Given the description of an element on the screen output the (x, y) to click on. 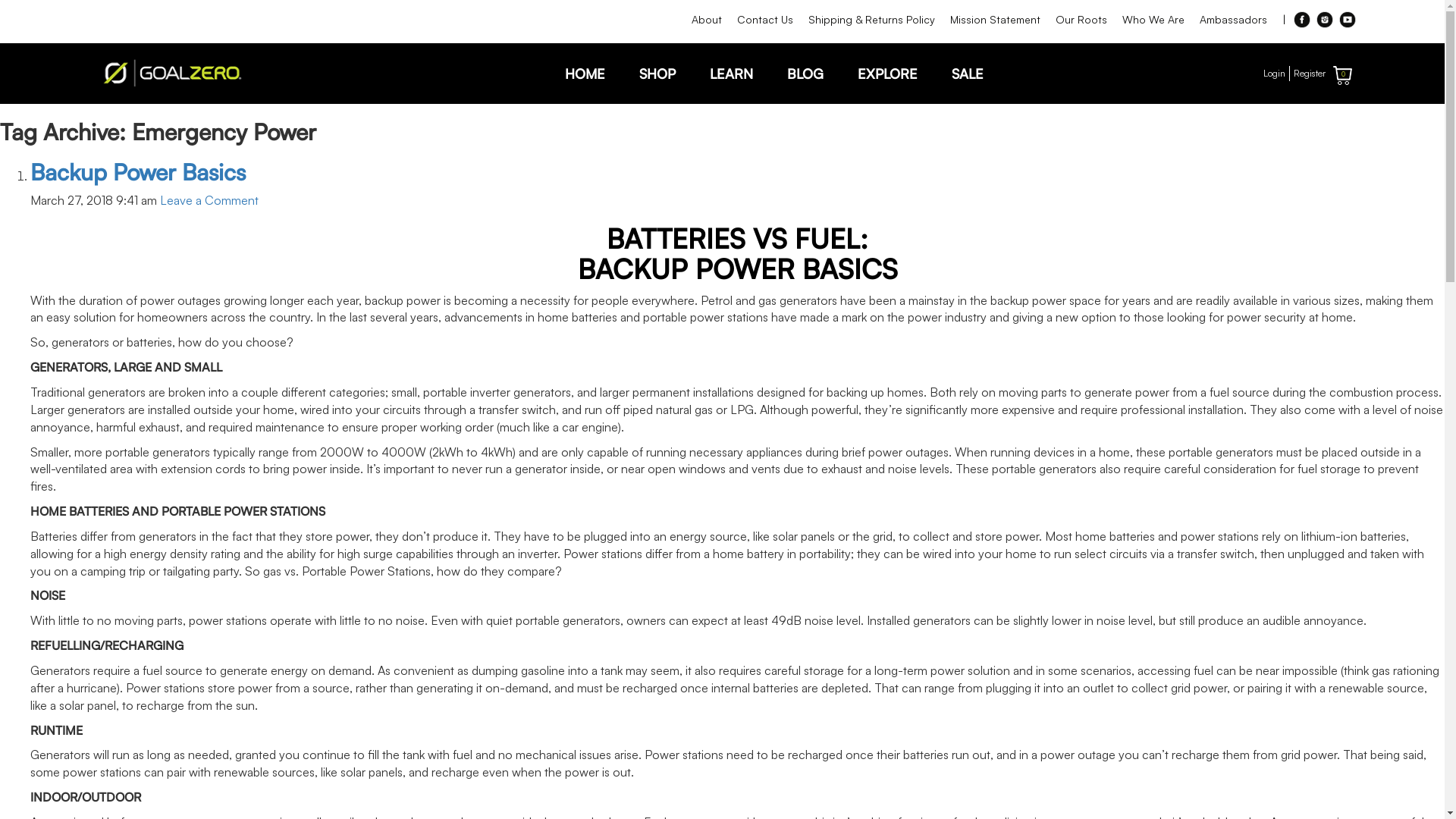
Instagram Element type: text (1324, 19)
You Tube Element type: text (1347, 19)
Backup Power Basics Element type: text (137, 171)
EXPLORE Element type: text (886, 73)
Leave a Comment Element type: text (209, 199)
SALE Element type: text (966, 73)
0 Element type: text (1342, 74)
Login Element type: text (1274, 73)
Ambassadors Element type: text (1233, 19)
Shipping & Returns Policy Element type: text (871, 19)
Who We Are Element type: text (1153, 19)
HOME Element type: text (584, 73)
SHOP Element type: text (656, 73)
Mission Statement Element type: text (994, 19)
Facebook Element type: text (1301, 19)
Our Roots Element type: text (1081, 19)
LEARN Element type: text (731, 73)
About Element type: text (706, 19)
| Element type: text (1283, 19)
BLOG Element type: text (804, 73)
Register Element type: text (1309, 73)
Contact Us Element type: text (764, 19)
